Given the description of an element on the screen output the (x, y) to click on. 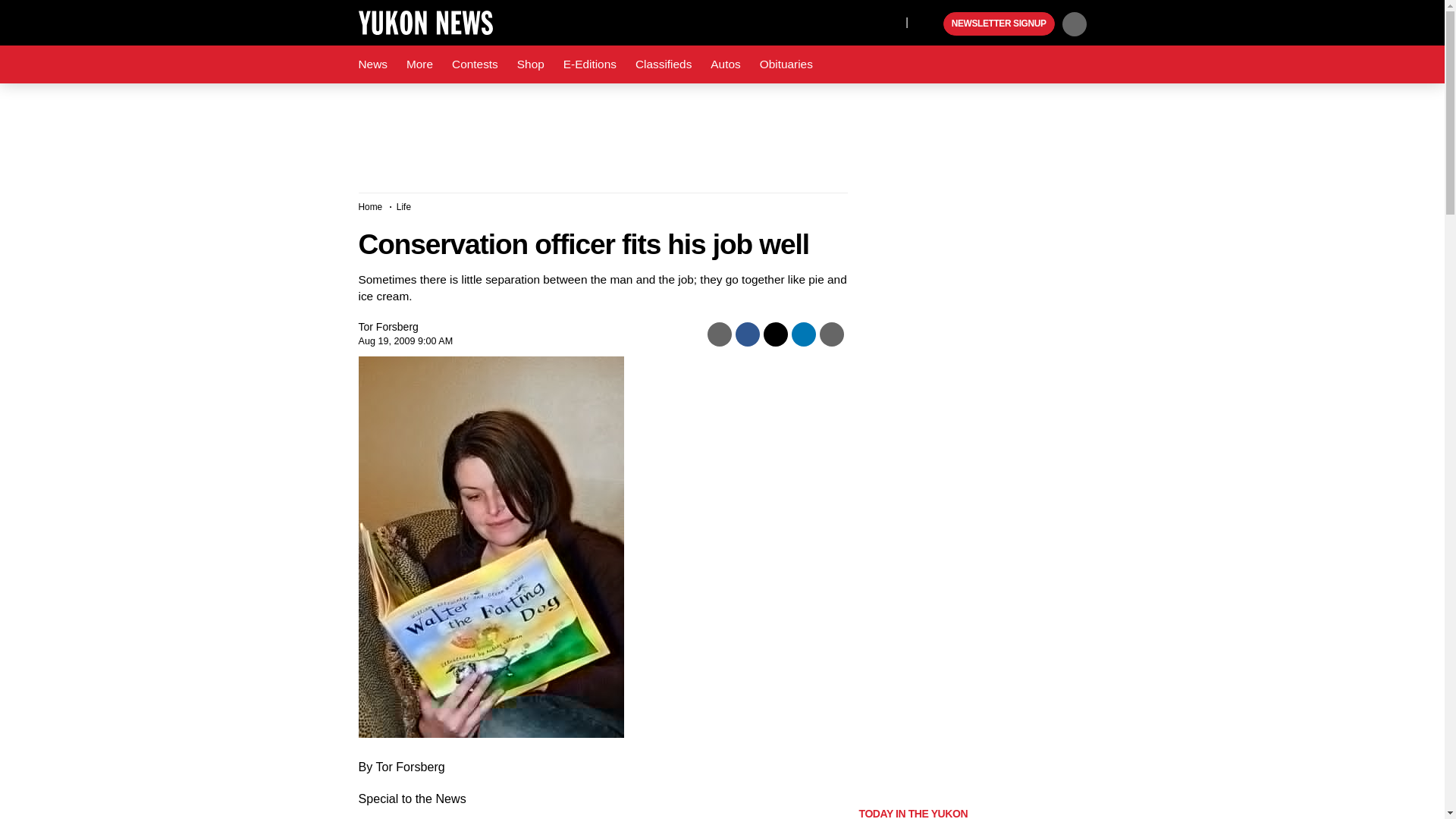
Play (929, 24)
X (889, 21)
News (372, 64)
NEWSLETTER SIGNUP (998, 24)
Black Press Media (929, 24)
